Given the description of an element on the screen output the (x, y) to click on. 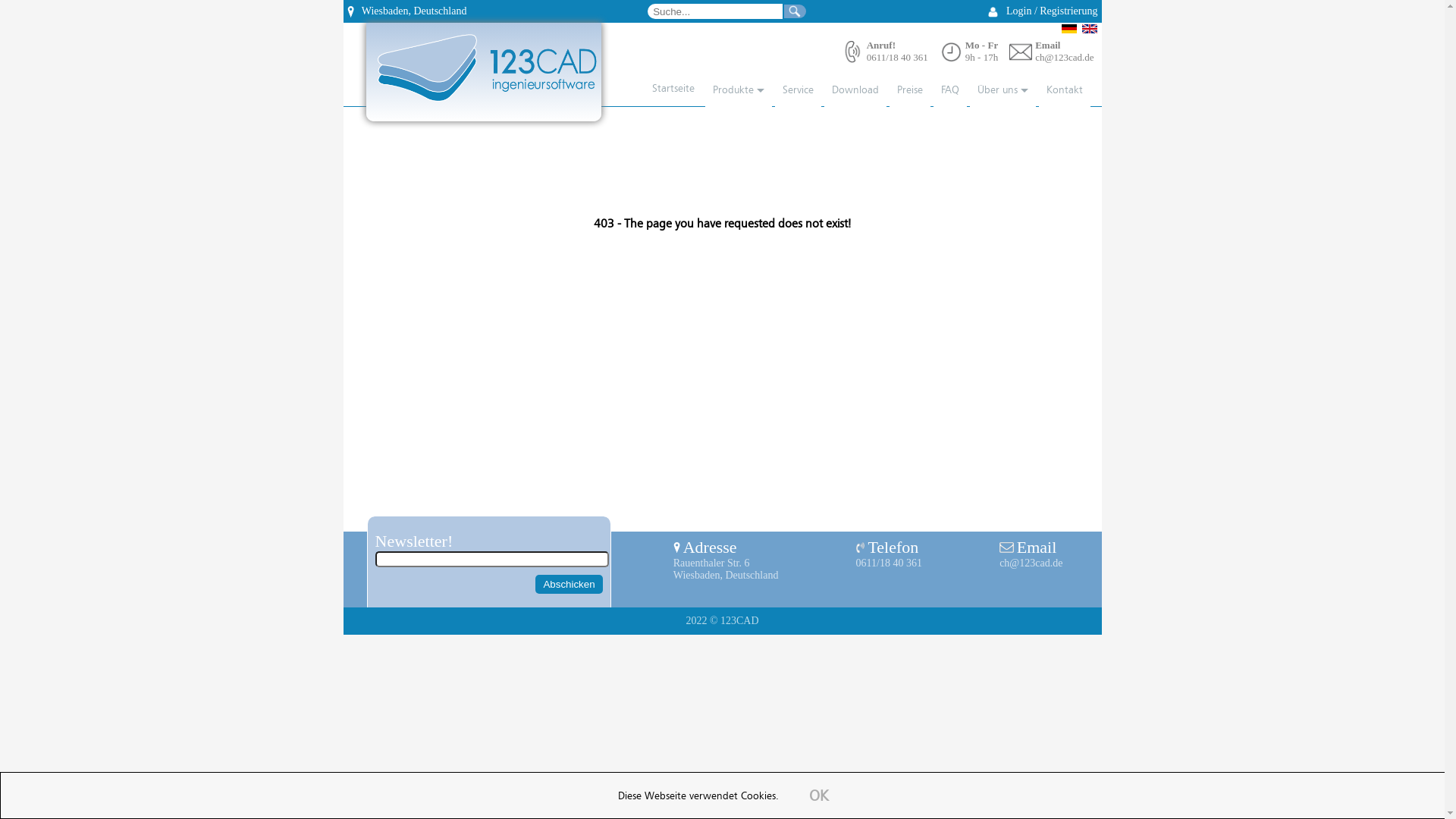
Startseite Element type: text (666, 89)
Download Element type: text (854, 90)
Service Element type: text (798, 90)
Login Element type: text (1018, 10)
Preise Element type: text (908, 90)
Wiesbaden, Deutschland Element type: text (404, 11)
Kontakt Element type: text (1064, 90)
Registrierung Element type: text (1068, 10)
Abschicken Element type: text (568, 583)
FAQ Element type: text (949, 90)
OK Element type: text (819, 796)
